Given the description of an element on the screen output the (x, y) to click on. 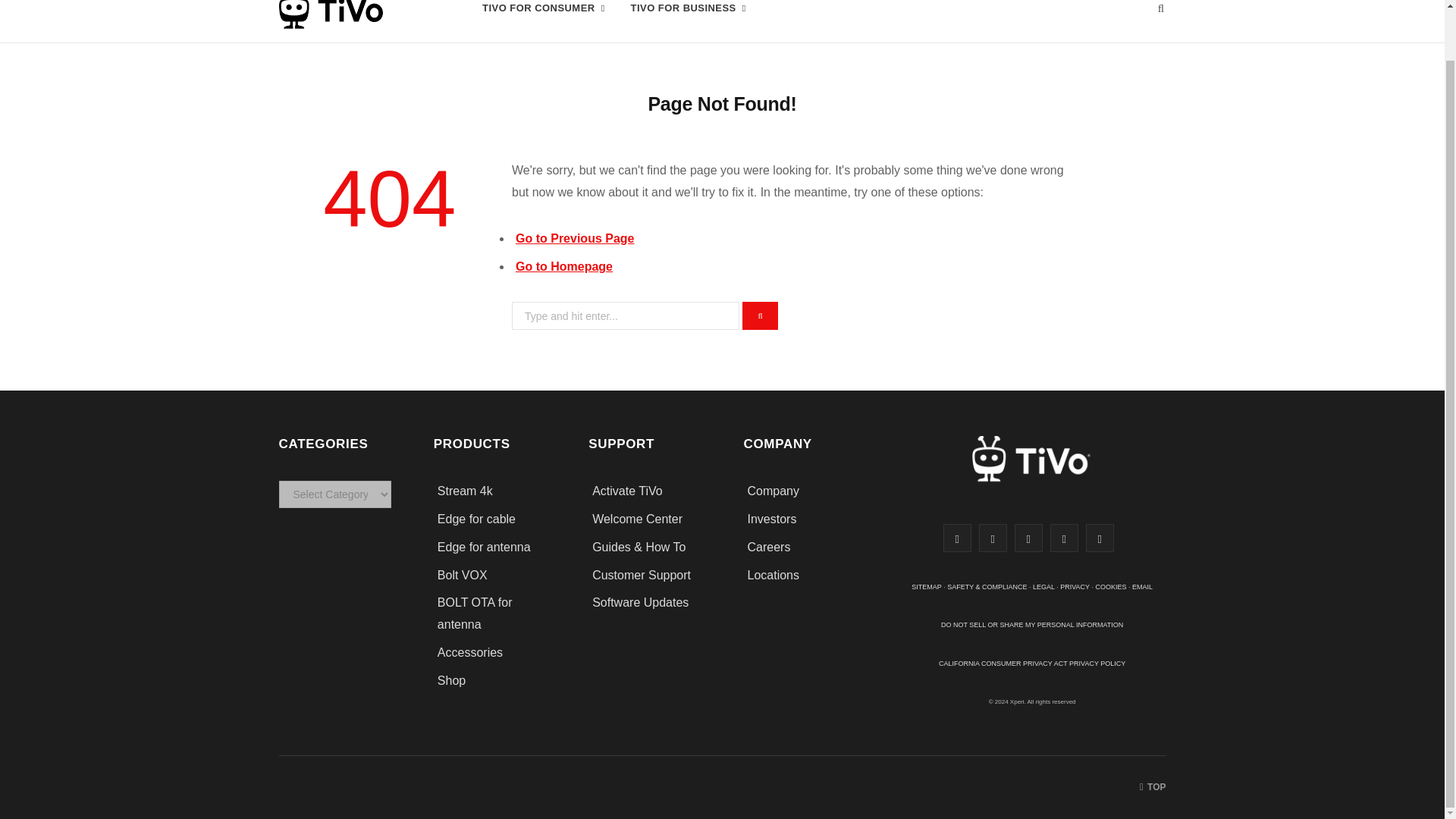
Shop (451, 680)
Accessories  (472, 652)
Edge for cable (476, 518)
Go to Homepage (563, 266)
Go to Previous Page (574, 237)
TIVO FOR CONSUMER (542, 21)
Stream 4k (465, 490)
BOLT OTA for antenna (475, 613)
Welcome Center (637, 518)
TIVO FOR BUSINESS (688, 21)
